Given the description of an element on the screen output the (x, y) to click on. 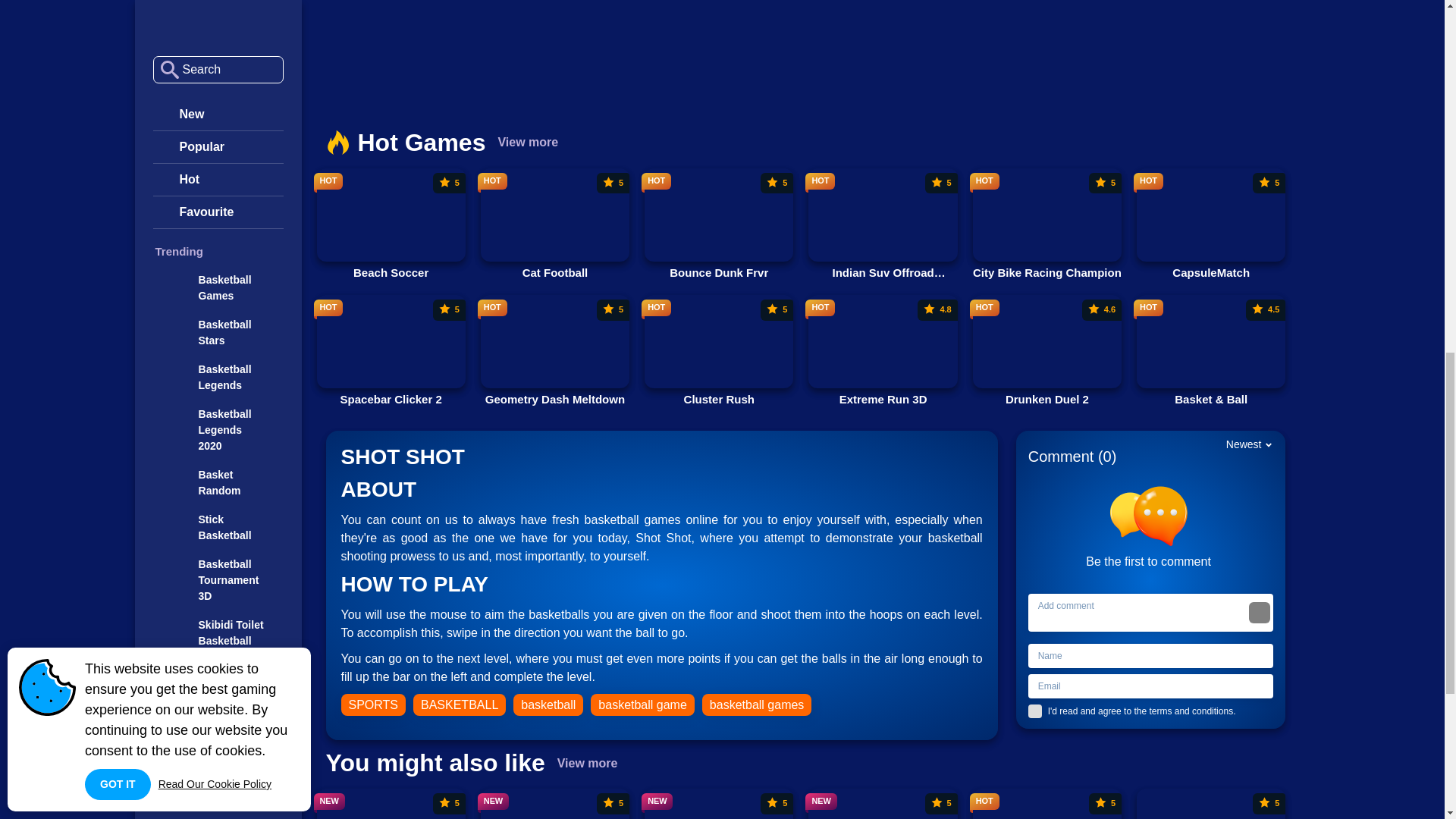
BASKETBALL (459, 704)
Beach Soccer (719, 224)
View more (882, 224)
basketball (391, 224)
